Given the description of an element on the screen output the (x, y) to click on. 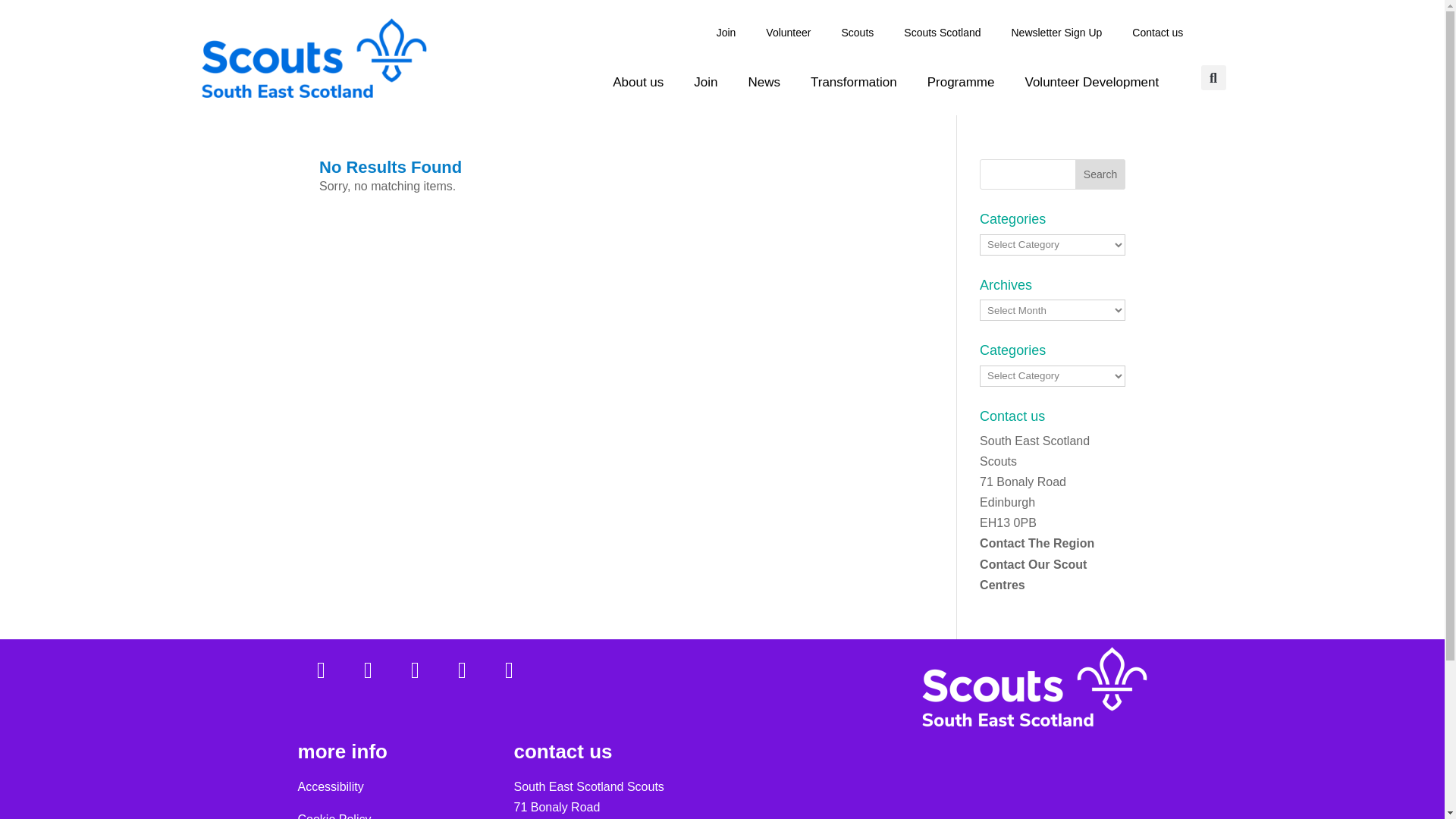
Scouts (858, 32)
Search (1100, 173)
Newsletter Sign Up (1055, 32)
Join (726, 32)
About us (637, 82)
Scouts Scotland (941, 32)
Volunteer (788, 32)
Contact us (1157, 32)
Join (705, 82)
